Given the description of an element on the screen output the (x, y) to click on. 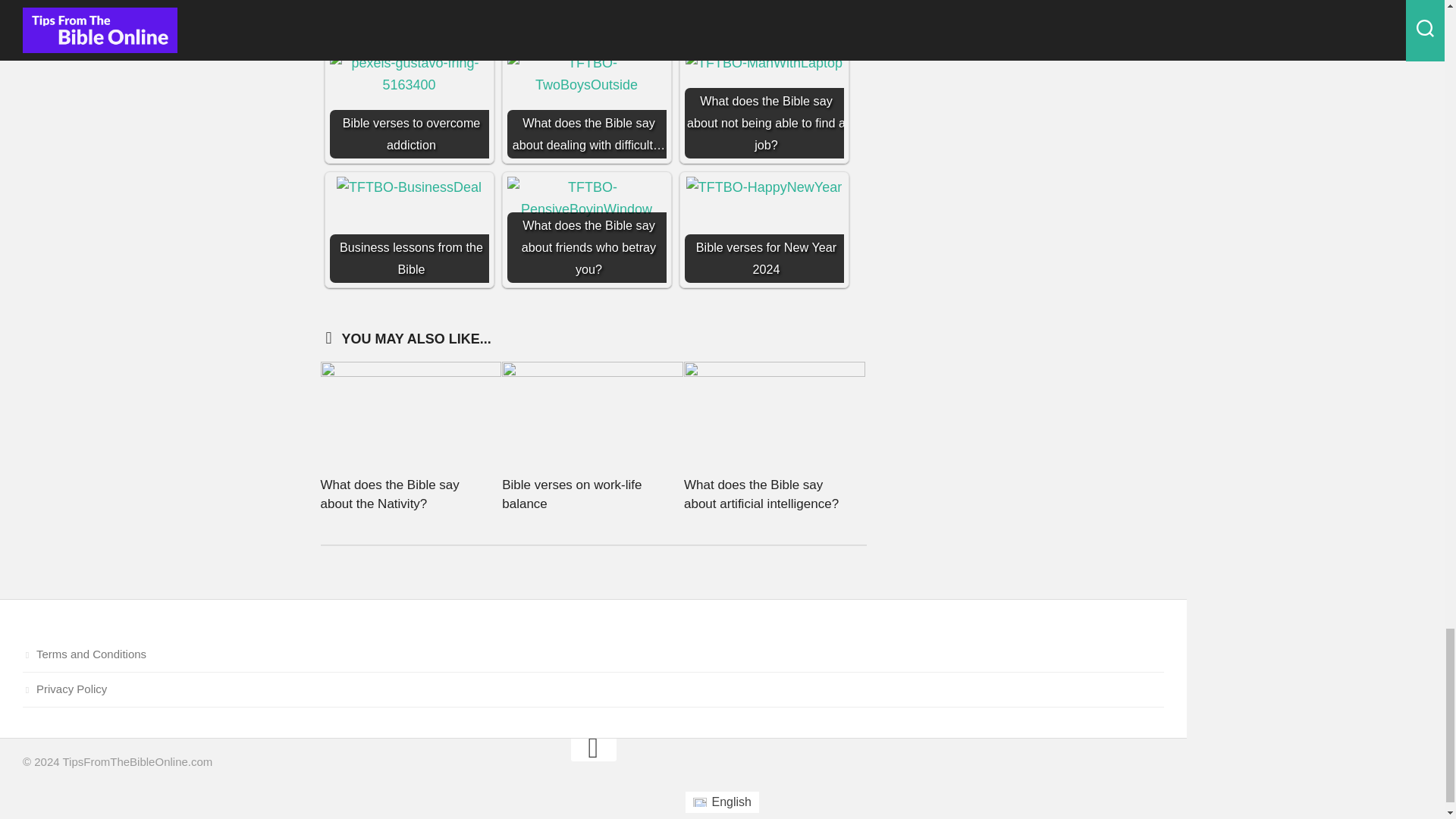
What does the Bible say about not being able to find a job? (763, 105)
Bible verses for New Year 2024 (763, 229)
What does the Bible say about the Nativity? (389, 494)
What does the Bible say about not being able to find a job? (764, 63)
What does the bible say about finding a job? (585, 17)
Bible verses on work-life balance (572, 494)
Bible verses to overcome addiction (408, 105)
Privacy Policy (593, 689)
Business lessons from the Bible (408, 187)
What does the Bible say about friends who betray you? (585, 229)
What does the Bible say about artificial intelligence? (761, 494)
Business lessons from the Bible (408, 229)
Bible verses to overcome addiction (408, 74)
Terms and Conditions (593, 655)
